Given the description of an element on the screen output the (x, y) to click on. 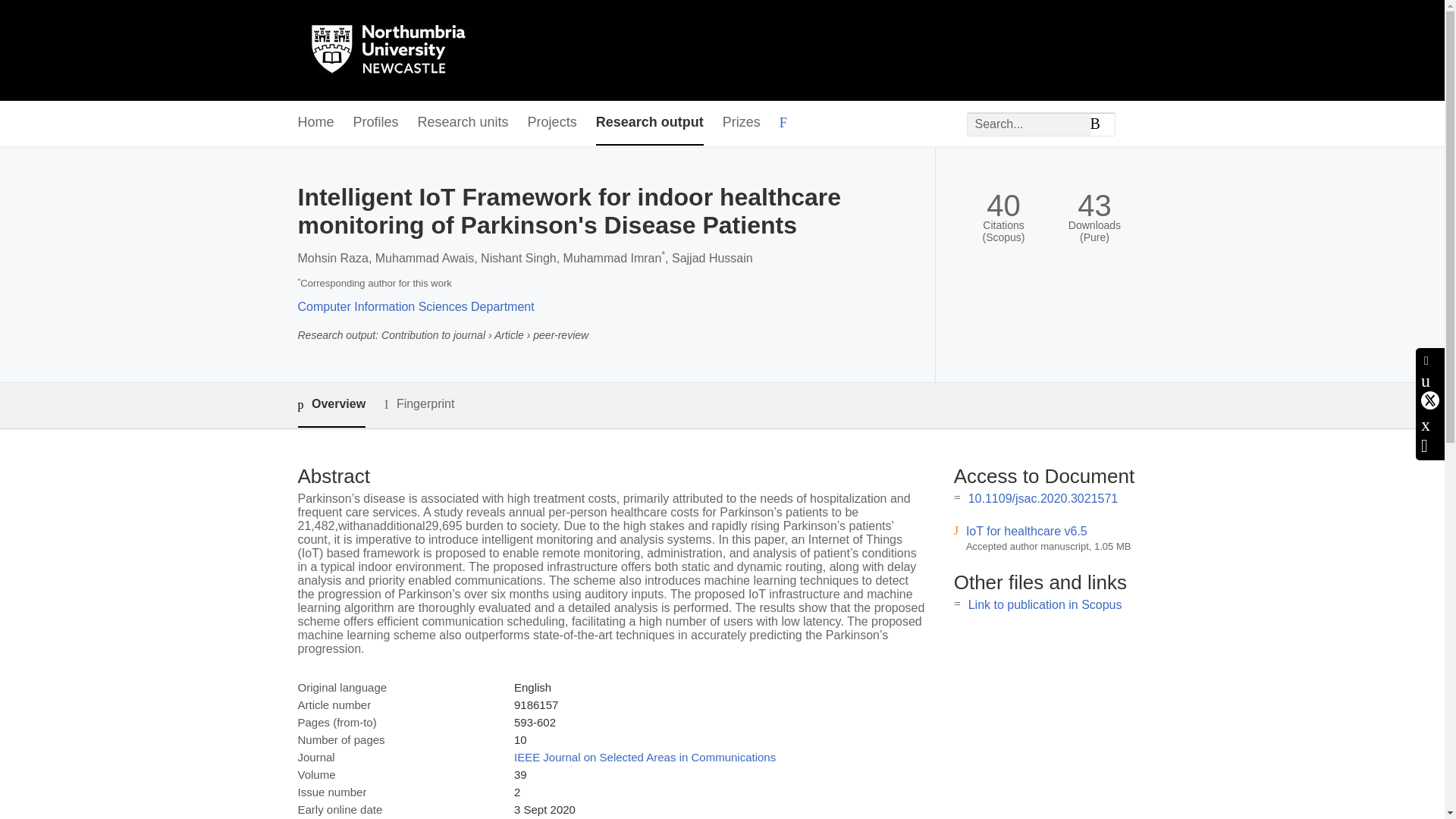
Overview (331, 405)
Profiles (375, 122)
Link to publication in Scopus (1045, 604)
IEEE Journal on Selected Areas in Communications (644, 757)
Computer Information Sciences Department (415, 306)
IoT for healthcare v6.5 (1026, 530)
Research units (462, 122)
Projects (551, 122)
Fingerprint (419, 404)
Research output (649, 122)
